Given the description of an element on the screen output the (x, y) to click on. 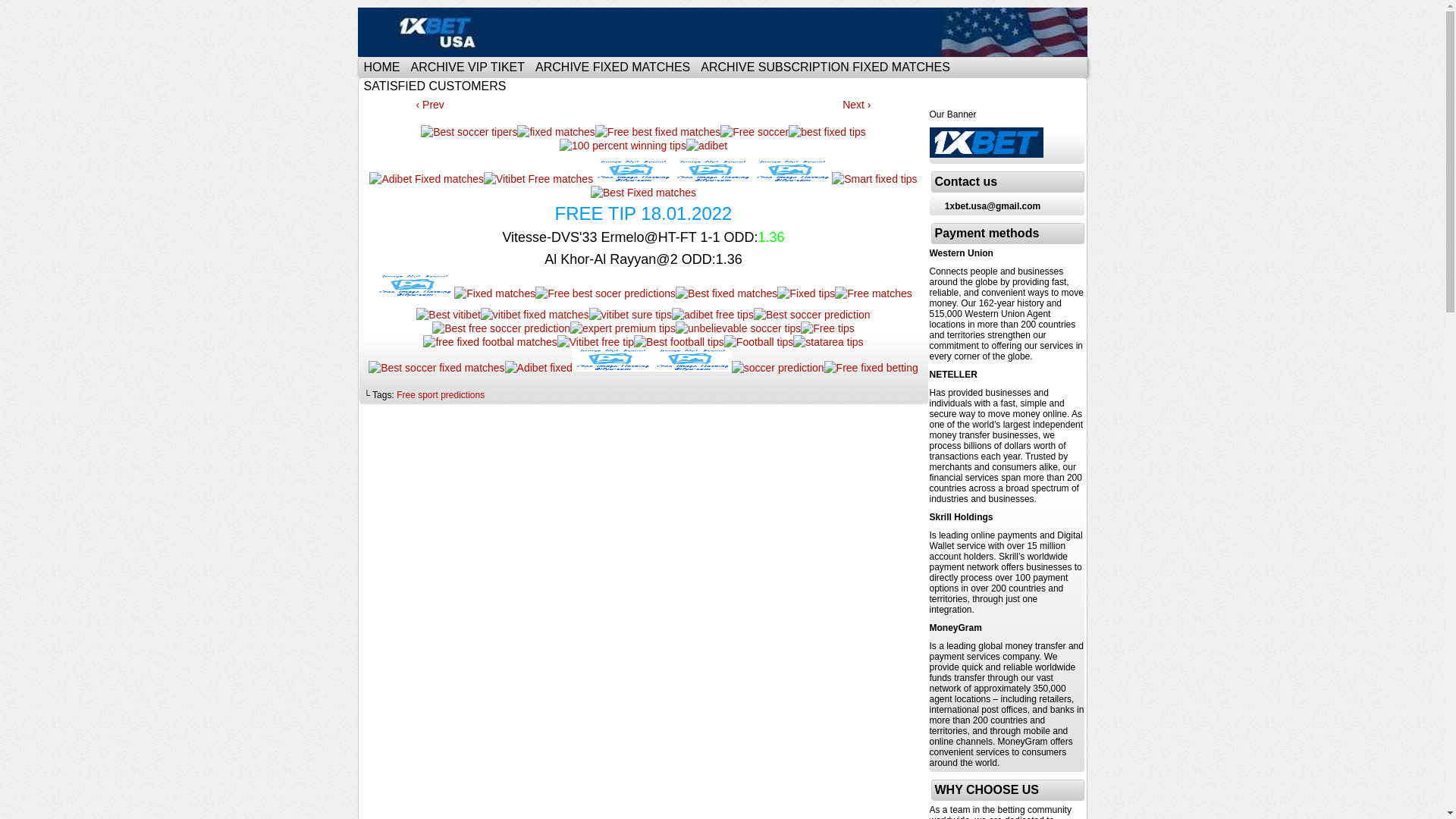
Best vitibet Element type: hover (448, 314)
SATISFIED CUSTOMERS Element type: text (434, 85)
Best soccer tipers Element type: hover (468, 131)
Free best soccer predictz Element type: hover (712, 171)
Best fixed solution Element type: hover (691, 359)
Best free soccer prediction Element type: hover (501, 328)
free best tips Element type: hover (632, 171)
Best soccer prediction Element type: hover (811, 314)
Best fixed matches Element type: hover (414, 285)
Free matches Element type: hover (612, 359)
Best football tips Element type: hover (678, 341)
HOME Element type: text (380, 66)
Best Fixed matches Element type: hover (643, 192)
Free fixed betting Element type: hover (871, 367)
Adibet Fixed matches Element type: hover (426, 178)
free fixed footbal matches Element type: hover (489, 341)
soccer prediction Element type: hover (777, 367)
Free best fixed matches Element type: hover (657, 131)
fixed matches Element type: hover (555, 131)
Vitibet Free matches Element type: hover (538, 178)
Smart fixed tips Element type: hover (873, 178)
Free Fixed matches Best soccer prediction Element type: text (724, 31)
Vitibet free tip Element type: hover (595, 341)
Free tips Element type: hover (826, 328)
statarea tips Element type: hover (827, 341)
Football tips Element type: hover (758, 341)
Fixed matches free Element type: hover (791, 171)
Free soccer Element type: hover (754, 131)
100 percent winning tips Element type: hover (622, 145)
Best fixed matches Element type: hover (726, 293)
Free sport predictions Element type: text (440, 394)
ARCHIVE VIP TIKET Element type: text (467, 66)
Adibet fixed Element type: hover (538, 367)
Free matches Element type: hover (873, 293)
vitibet sure tips Element type: hover (630, 314)
Free best socer predictions Element type: hover (605, 293)
ARCHIVE SUBSCRIPTION FIXED MATCHES Element type: text (825, 66)
adibet Element type: hover (706, 145)
Fixed tips Element type: hover (805, 293)
best fixed tips Element type: hover (827, 131)
vitibet fixed matches Element type: hover (534, 314)
ARCHIVE FIXED MATCHES Element type: text (612, 66)
Best soccer fixed matches Element type: hover (436, 367)
adibet free tips Element type: hover (712, 314)
